Given the description of an element on the screen output the (x, y) to click on. 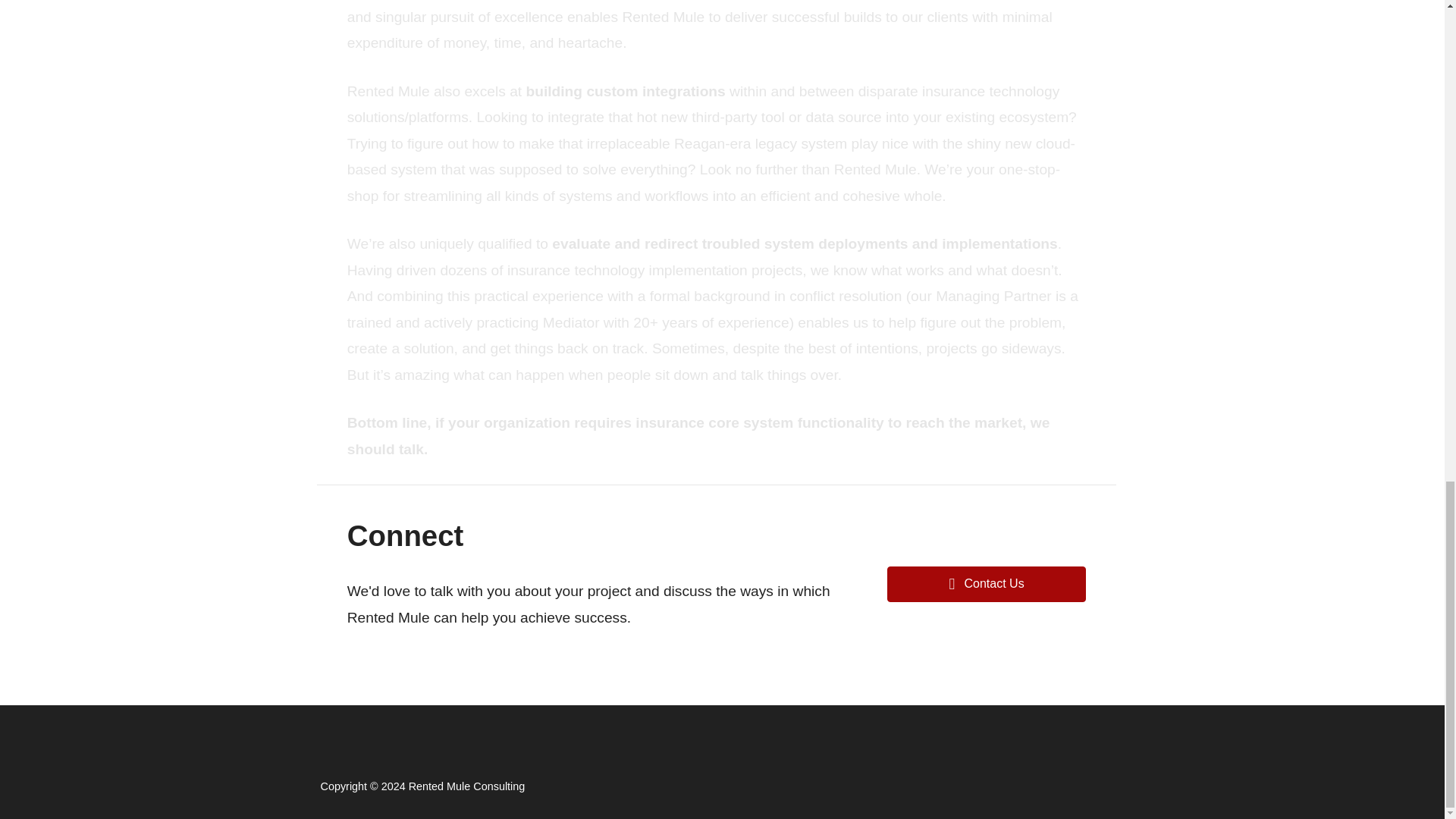
Contact Us (986, 583)
